Given the description of an element on the screen output the (x, y) to click on. 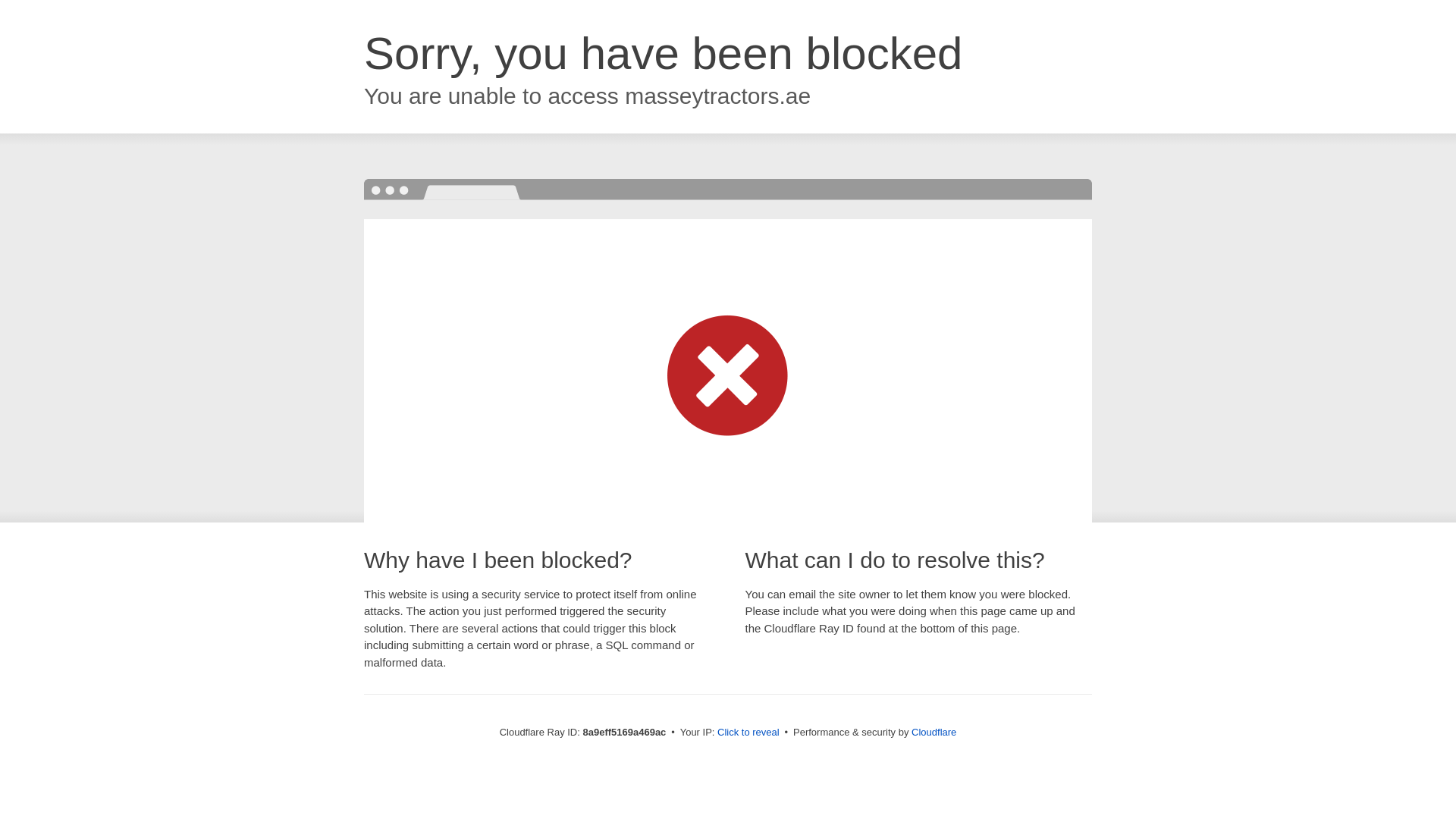
Click to reveal (747, 732)
Cloudflare (933, 731)
